Given the description of an element on the screen output the (x, y) to click on. 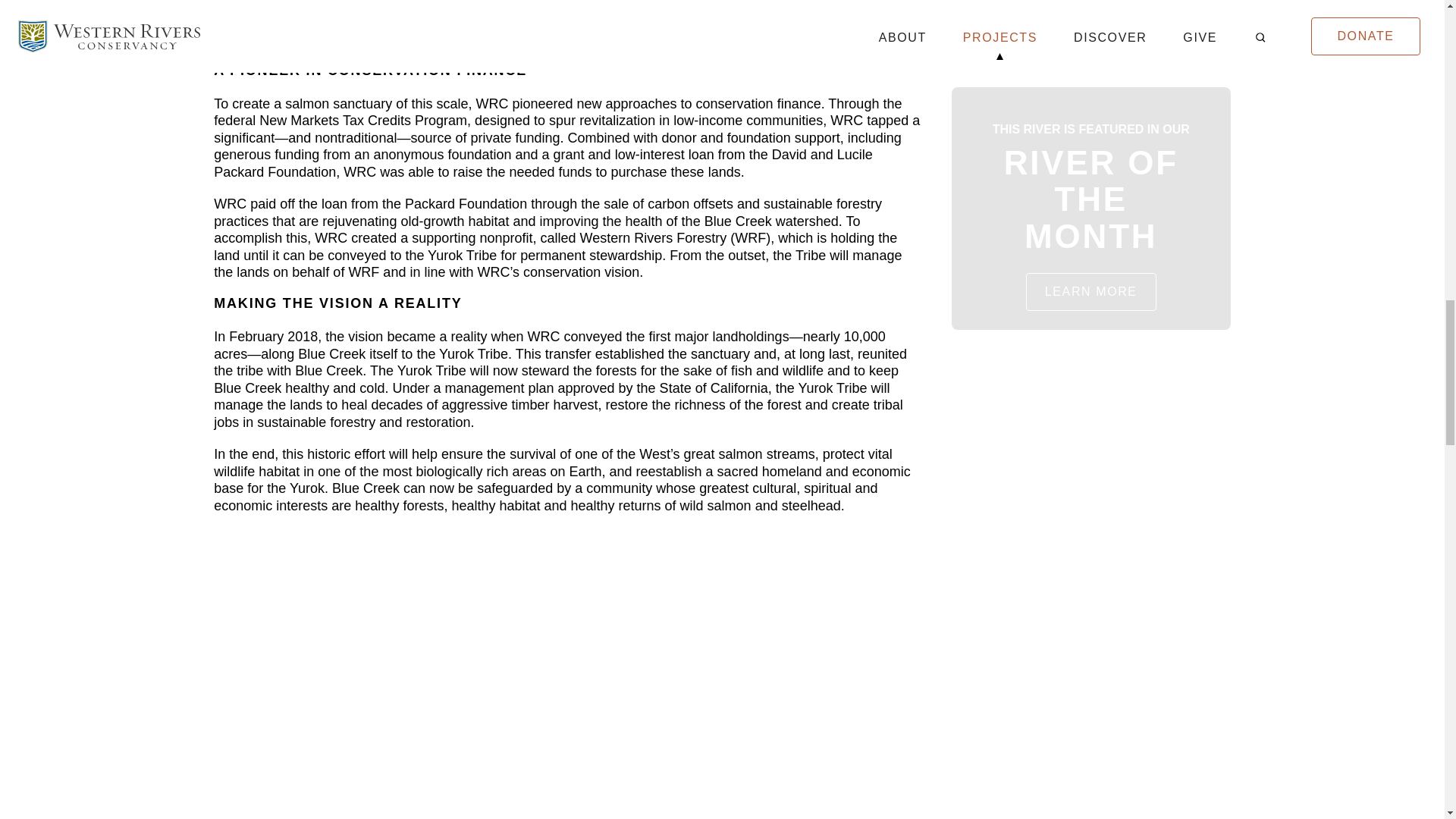
LEARN MORE (1091, 291)
